Given the description of an element on the screen output the (x, y) to click on. 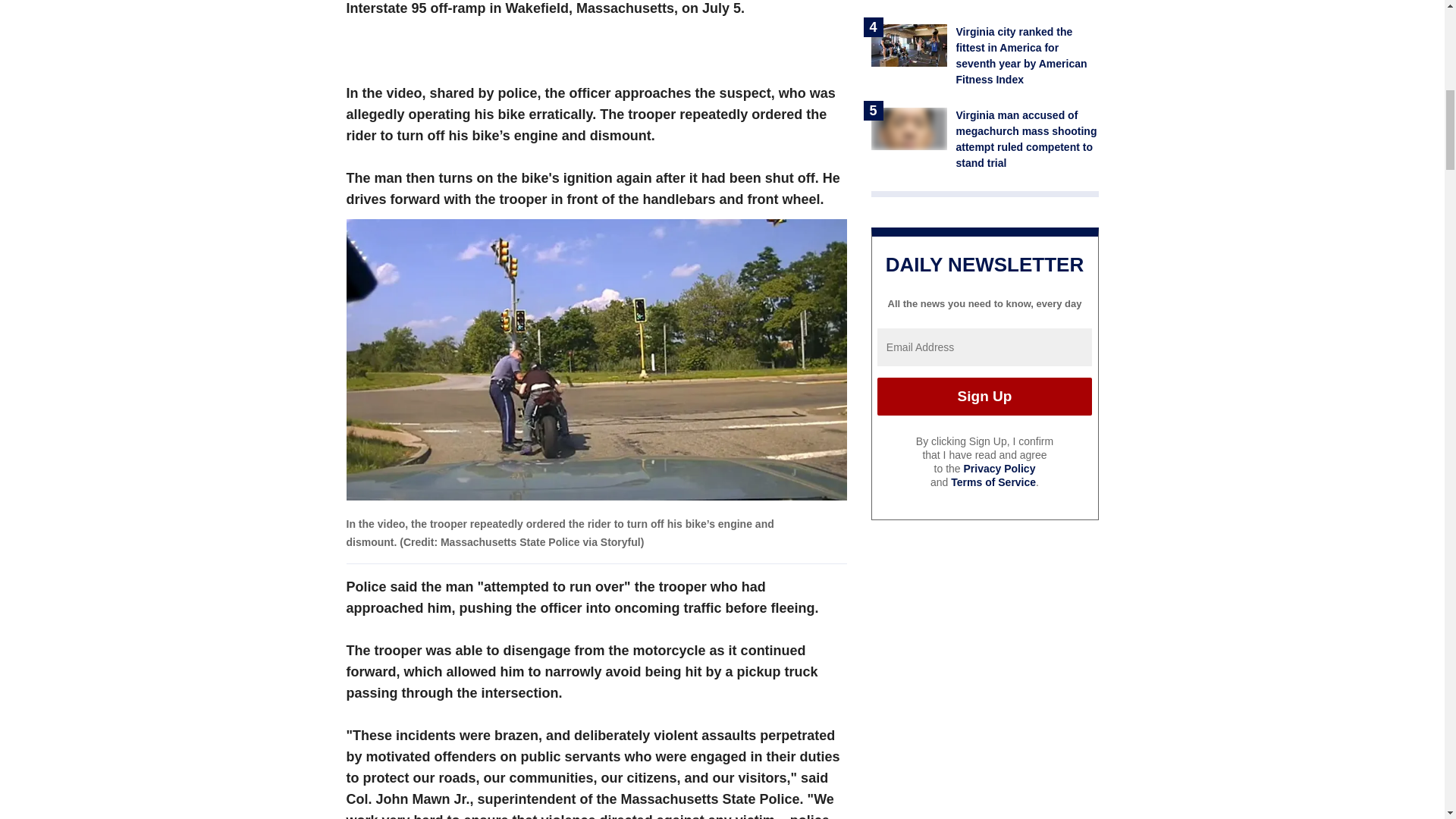
Sign Up (984, 396)
